Given the description of an element on the screen output the (x, y) to click on. 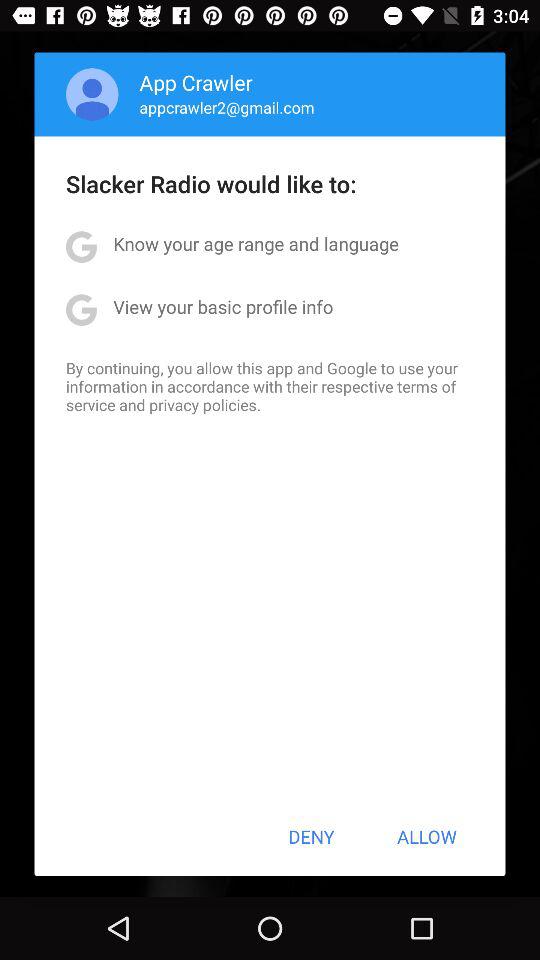
scroll until know your age item (255, 243)
